Given the description of an element on the screen output the (x, y) to click on. 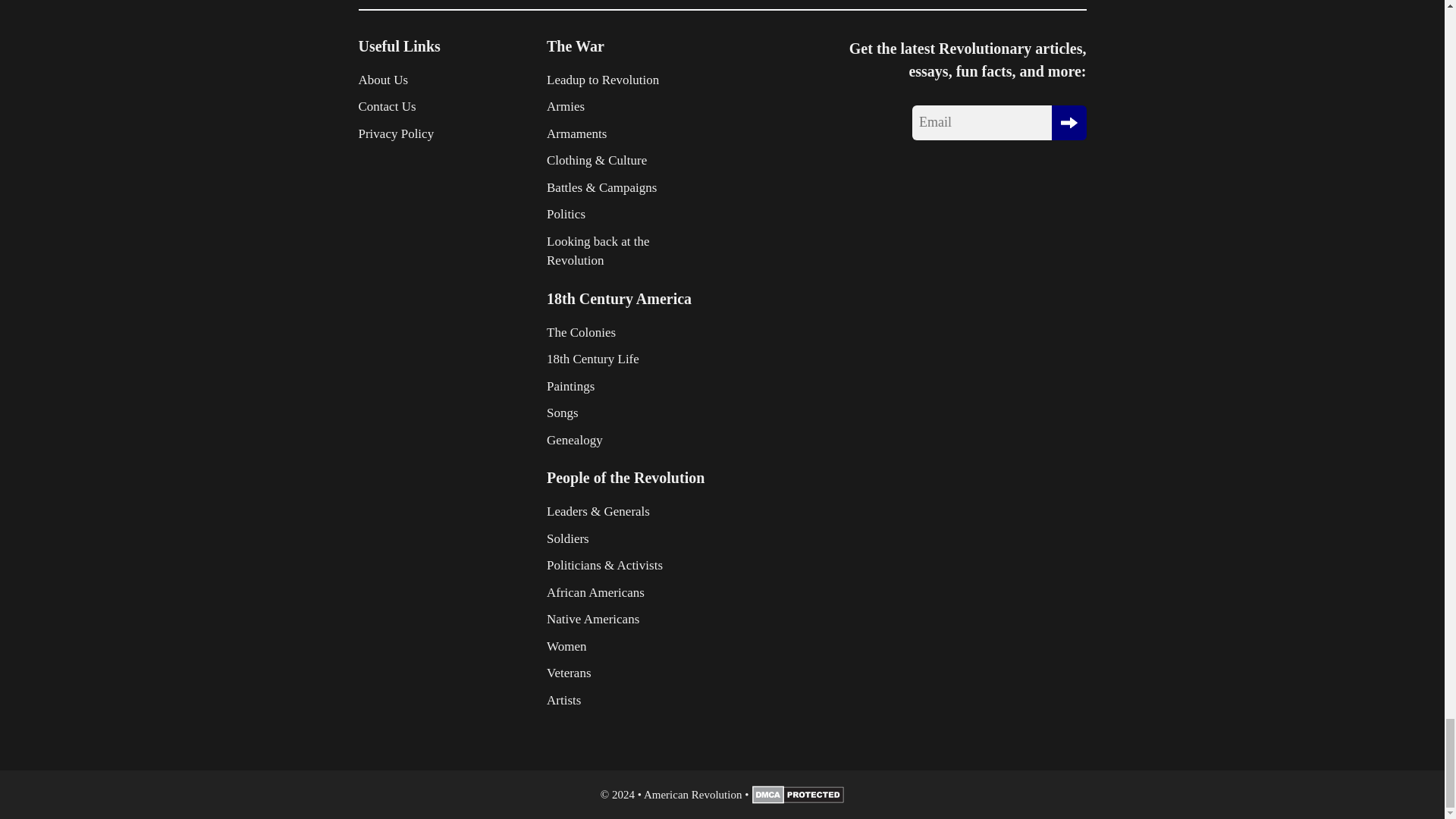
DMCA.com Protection Status (798, 799)
